Given the description of an element on the screen output the (x, y) to click on. 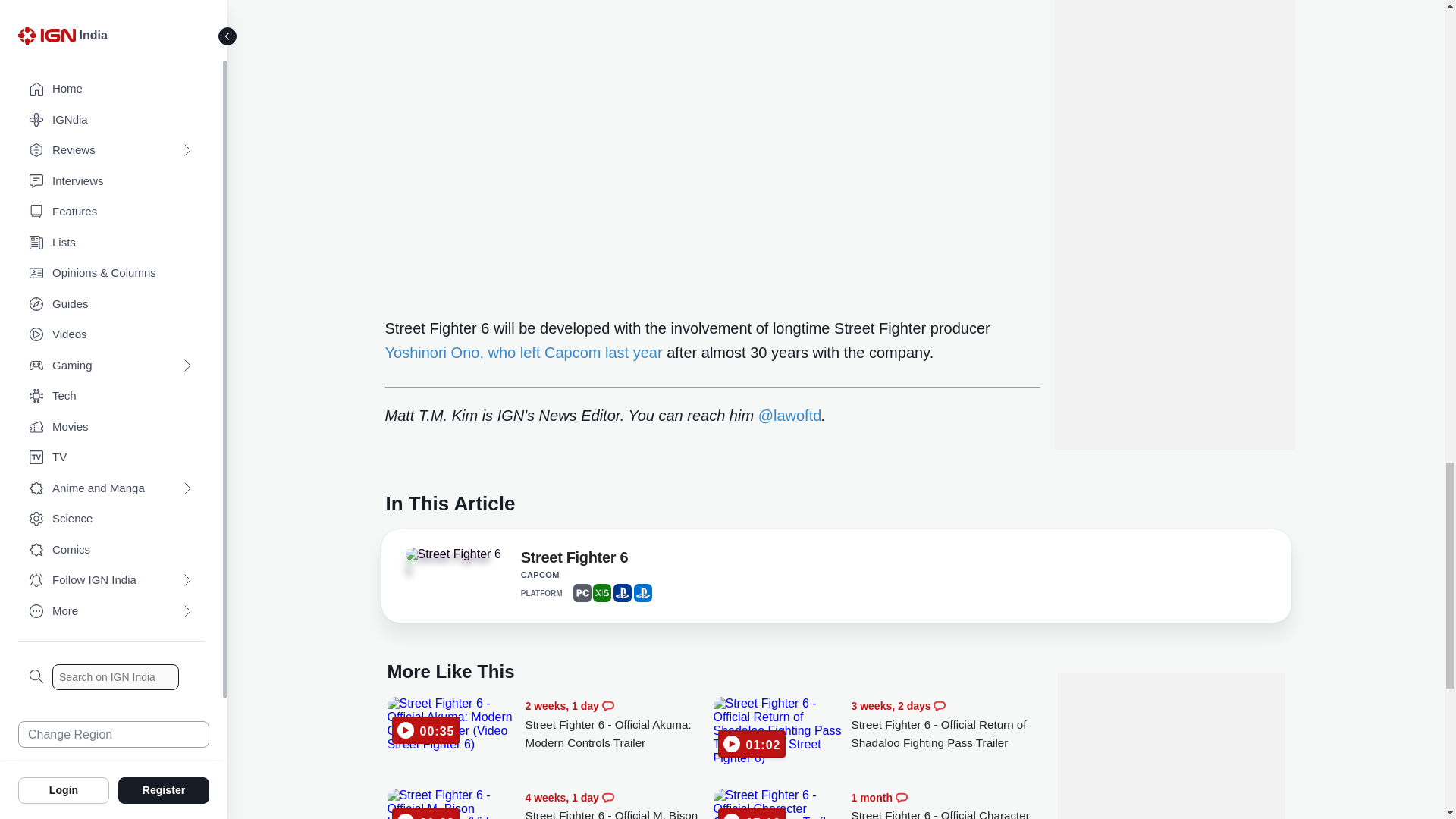
Street Fighter 6 (574, 559)
Street Fighter 6 (448, 565)
Street Fighter 6 (452, 554)
Street Fighter 6 - Official Akuma: Modern Controls Trailer (618, 724)
Street Fighter 6 - Official M. Bison Launch Trailer (451, 803)
Street Fighter 6 - Official M. Bison Launch Trailer (618, 803)
Street Fighter 6 - Official Akuma: Modern Controls Trailer (451, 723)
